Given the description of an element on the screen output the (x, y) to click on. 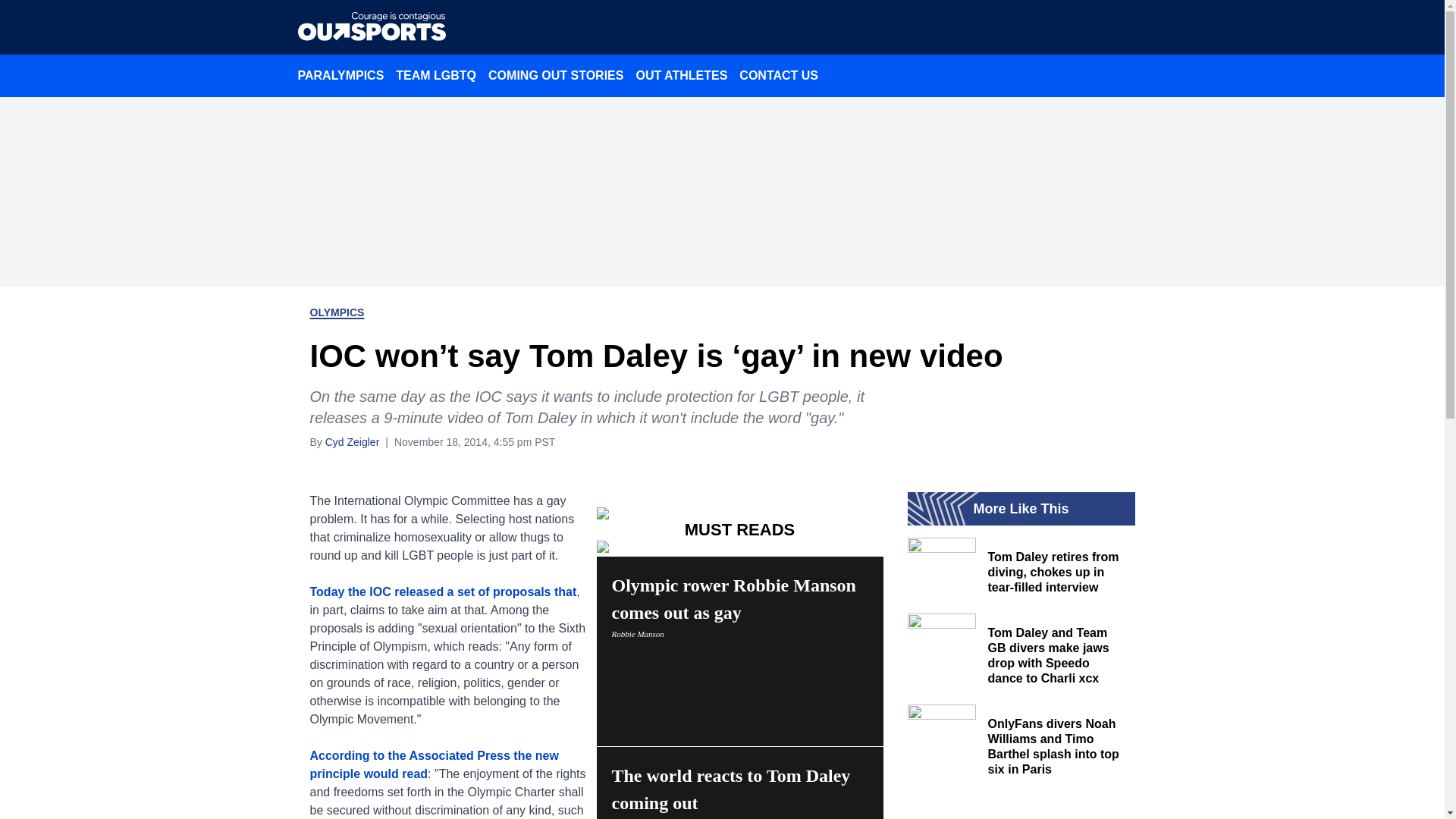
Today the IOC released a set of proposals that (442, 591)
OUT ATHLETES (680, 75)
CONTACT US (778, 75)
OLYMPICS (738, 651)
PARALYMPICS (336, 312)
COMING OUT STORIES (340, 75)
